Given the description of an element on the screen output the (x, y) to click on. 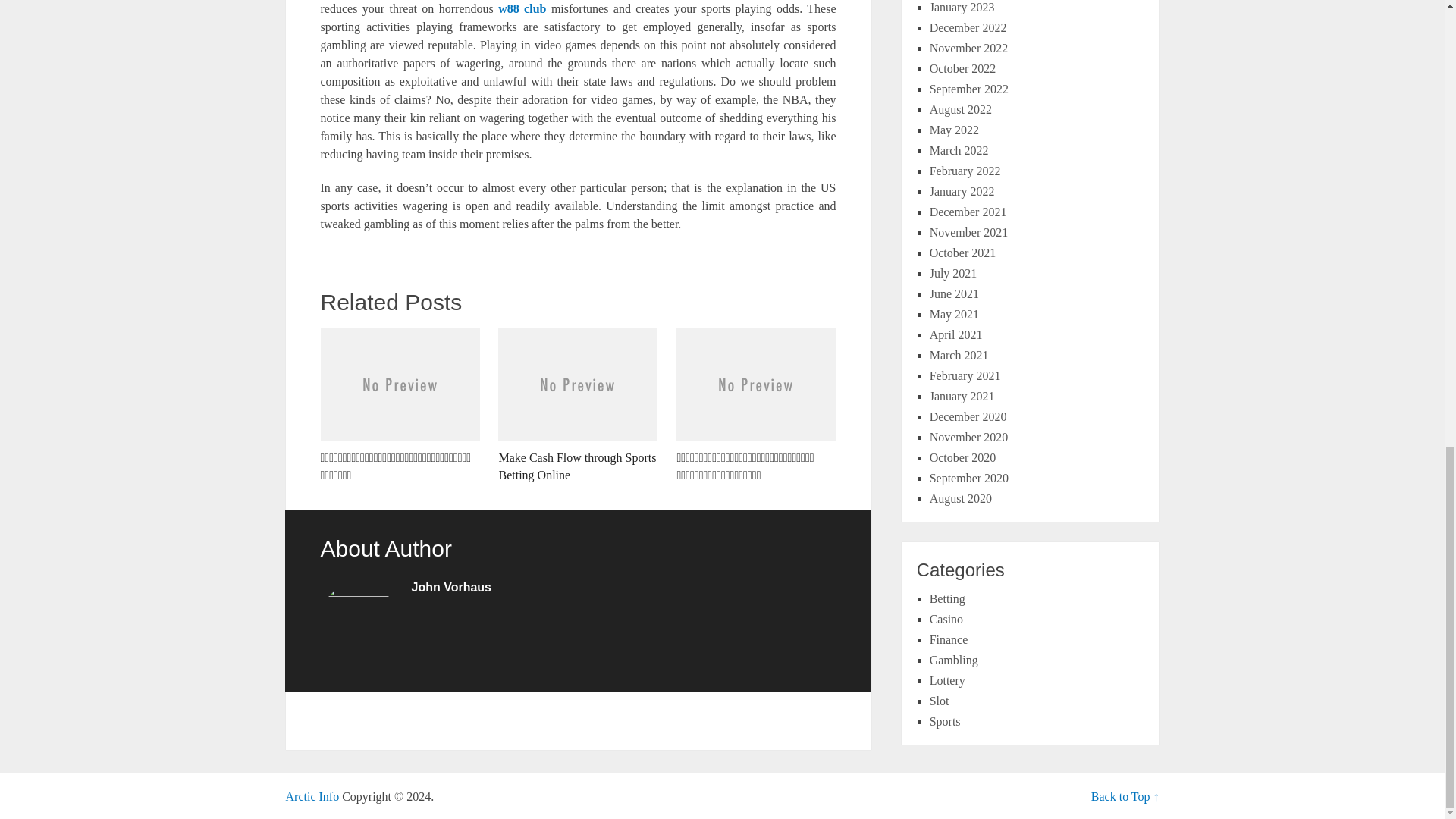
Make Cash Flow through Sports Betting Online (577, 405)
w88 club (521, 8)
Make Cash Flow through Sports Betting Online (577, 405)
